Given the description of an element on the screen output the (x, y) to click on. 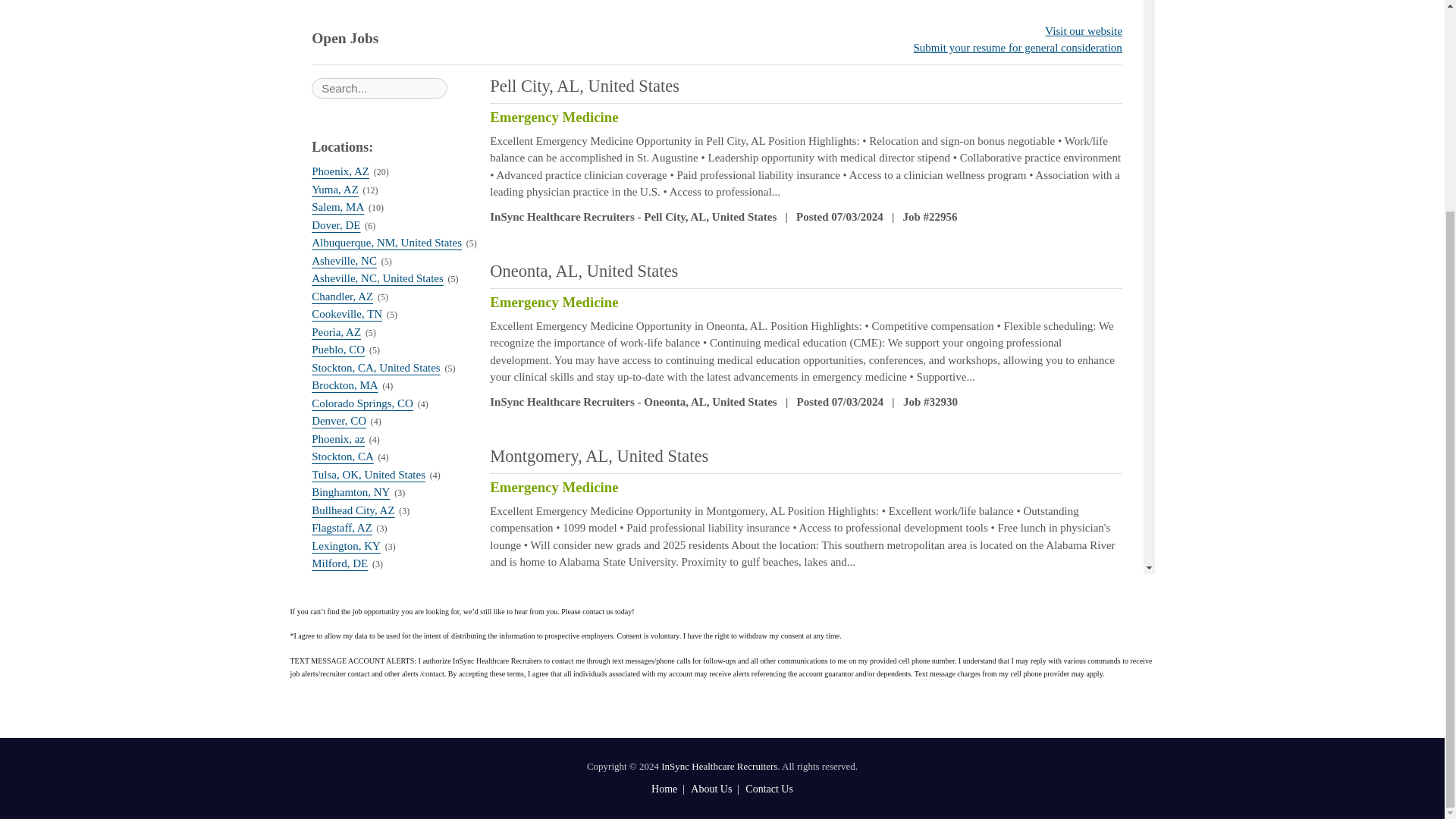
About Us (711, 788)
Please contact us today (595, 611)
Contact Us (769, 788)
Home (663, 788)
InSync Healthcare Recruiters (719, 766)
